Given the description of an element on the screen output the (x, y) to click on. 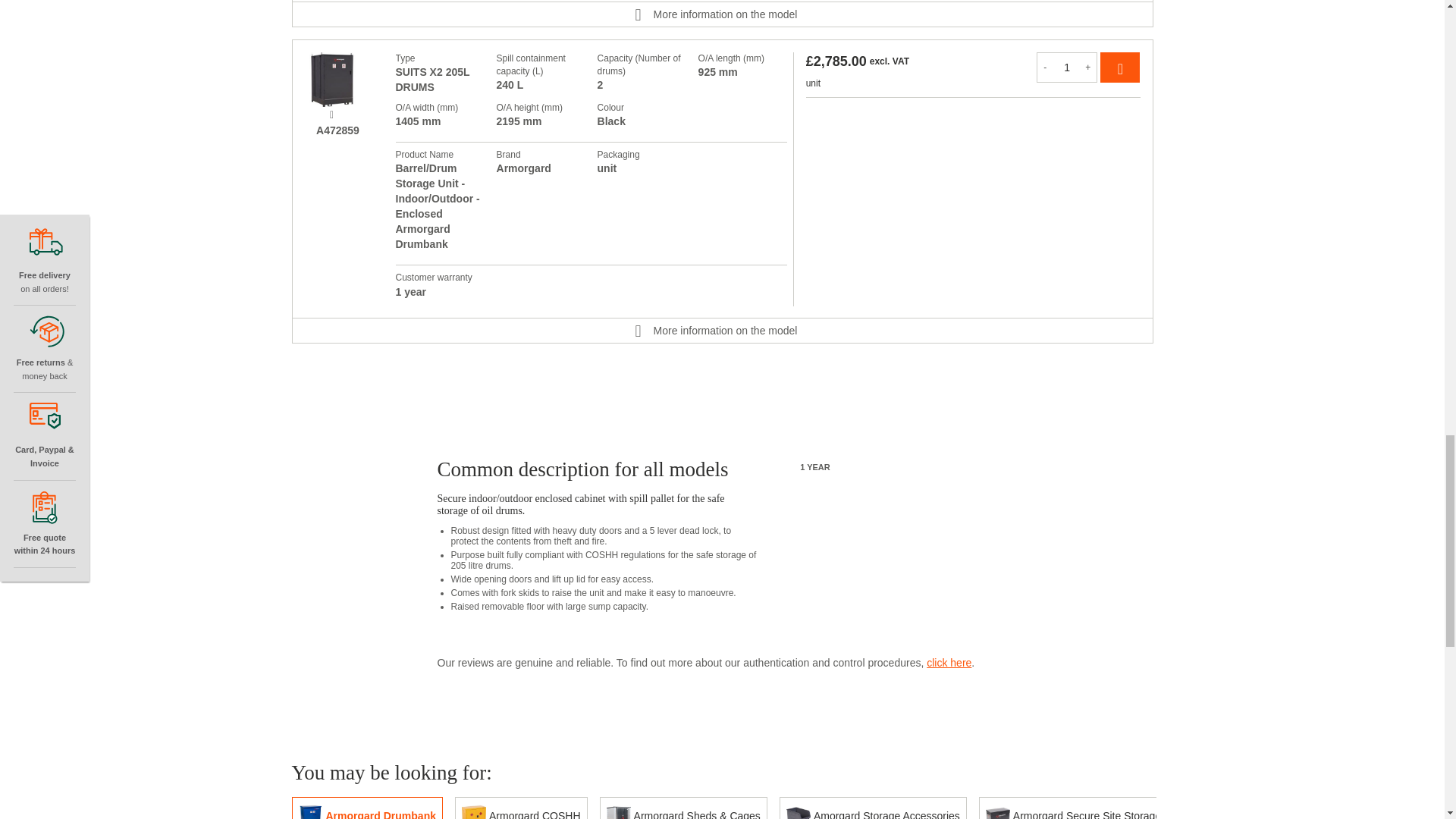
Customer warranty (784, 466)
1 (1066, 67)
